Given the description of an element on the screen output the (x, y) to click on. 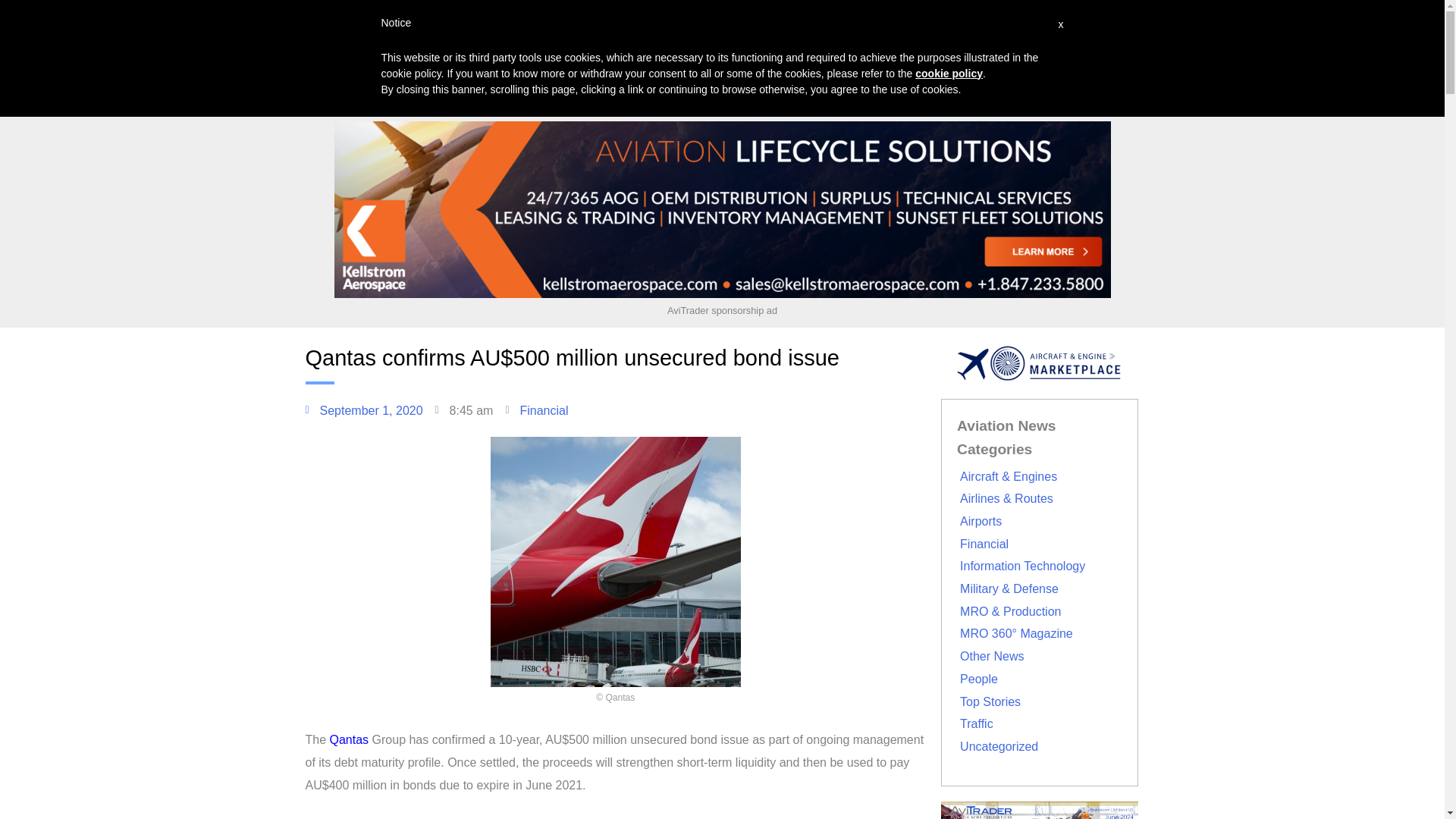
Contact Us (1021, 31)
Advertising (681, 31)
Upcoming Events (583, 31)
Posts tagged with Qantas (349, 739)
Our Team (949, 31)
About AviTrader (863, 31)
